Given the description of an element on the screen output the (x, y) to click on. 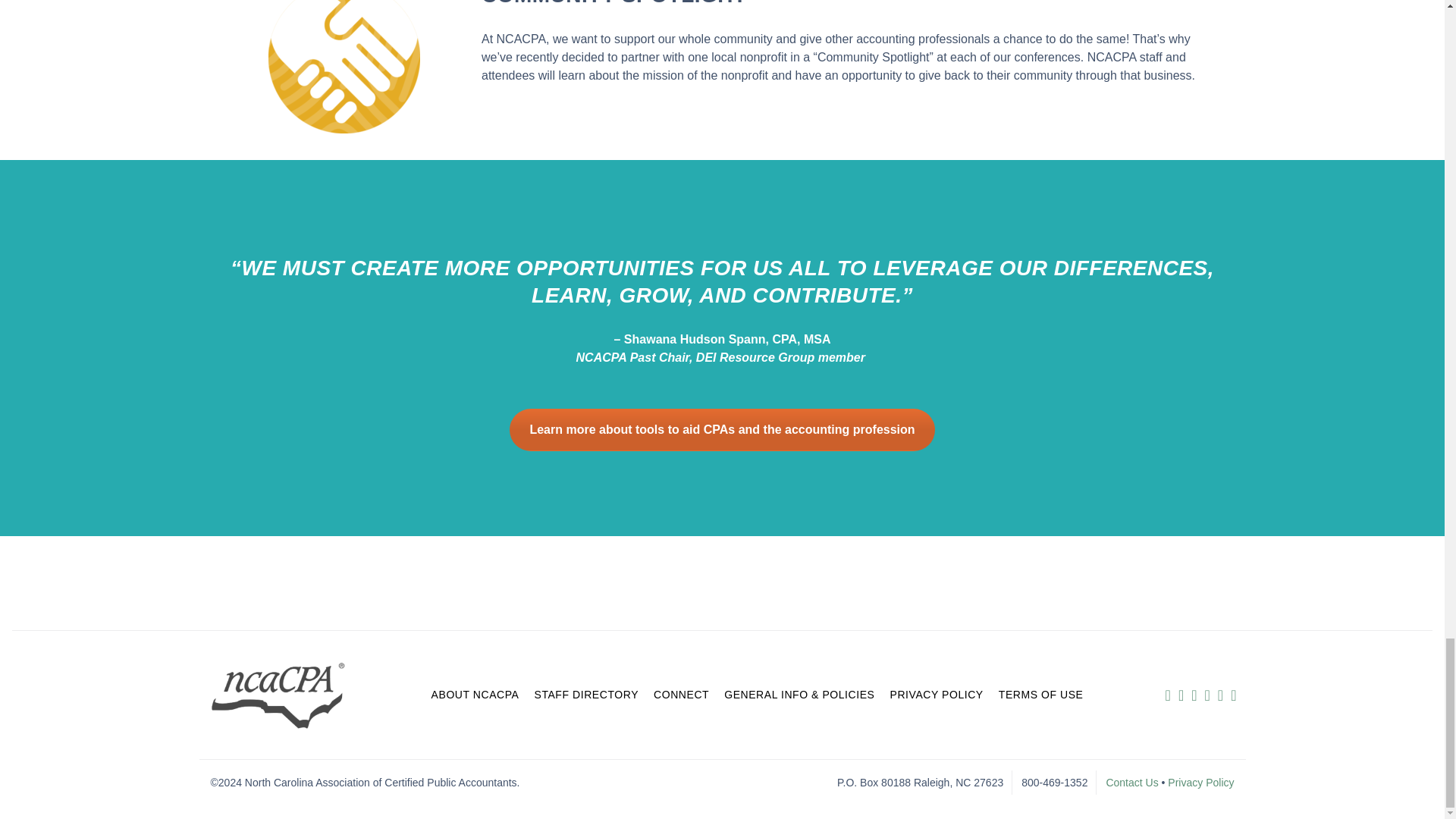
DEI-community-icon (343, 66)
